Given the description of an element on the screen output the (x, y) to click on. 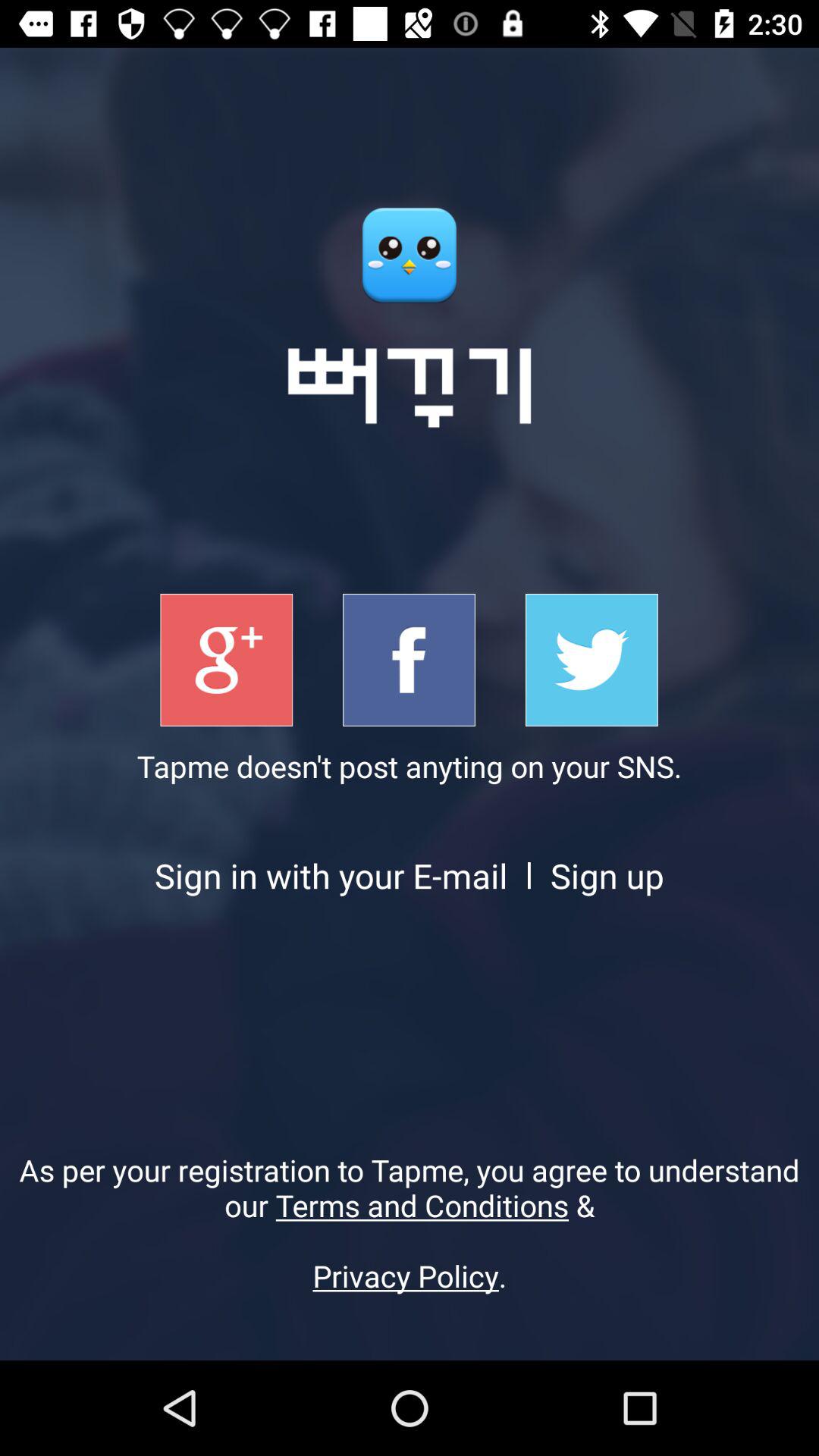
singup with fb (408, 659)
